Given the description of an element on the screen output the (x, y) to click on. 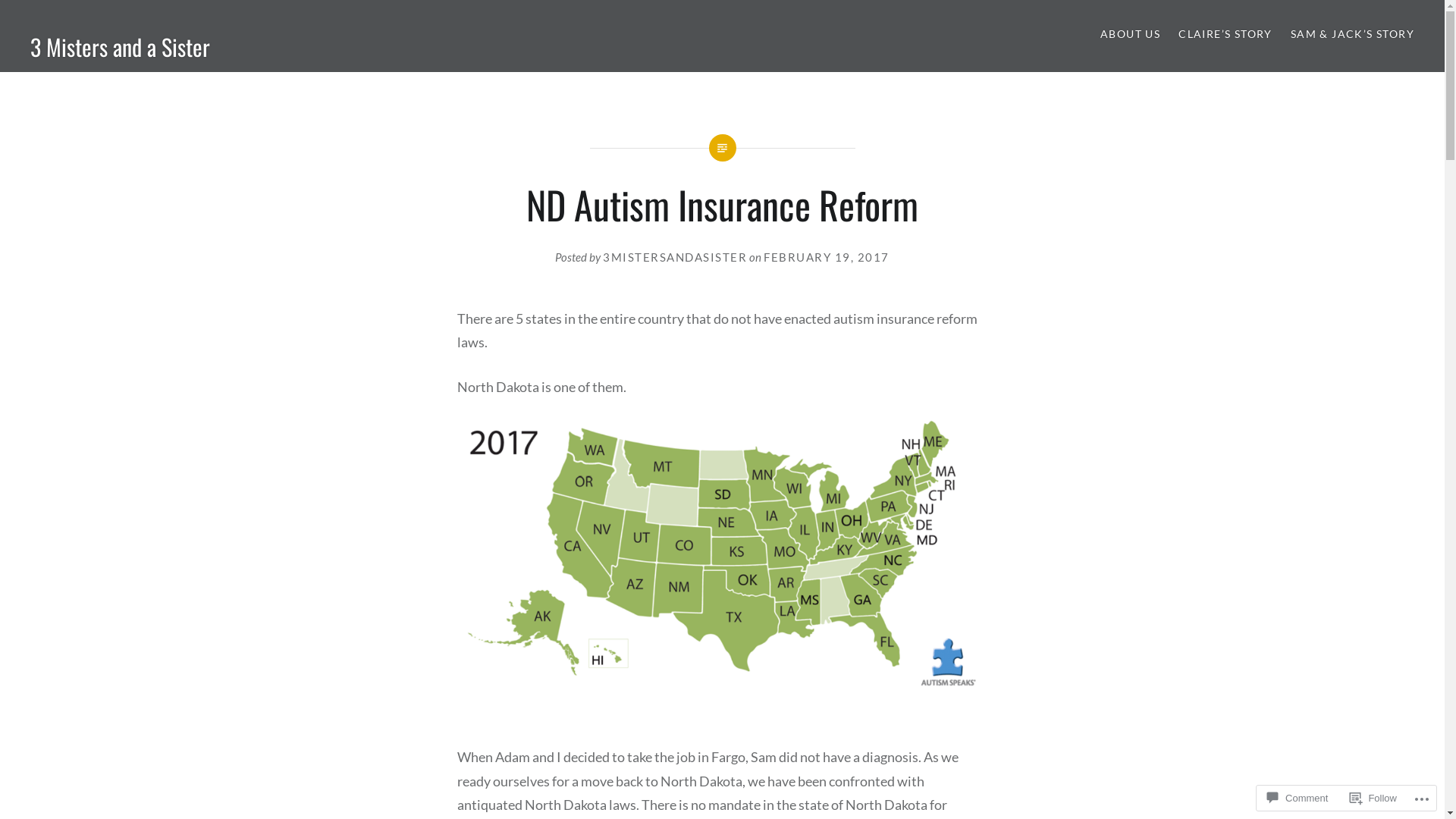
Comment Element type: text (1297, 797)
3MISTERSANDASISTER Element type: text (674, 256)
FEBRUARY 19, 2017 Element type: text (826, 256)
ABOUT US Element type: text (1130, 34)
Follow Element type: text (1372, 797)
Search Element type: text (141, 19)
3 Misters and a Sister Element type: text (120, 46)
